Given the description of an element on the screen output the (x, y) to click on. 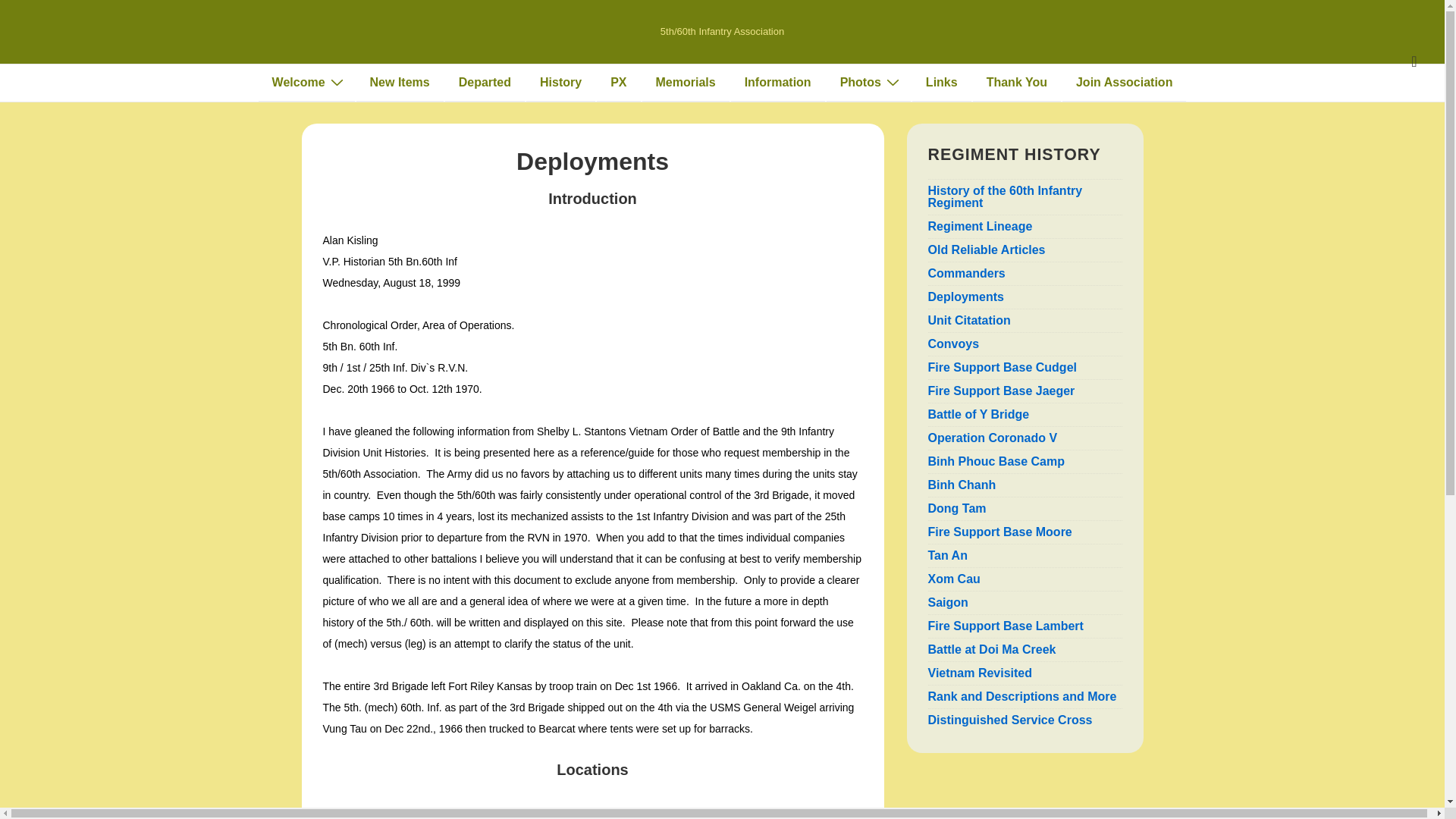
Unit Citatation (969, 319)
Photos (869, 82)
Fire Support Base Moore (999, 531)
Information (777, 82)
Join Association (1124, 82)
MENU (1414, 61)
Dong Tam (957, 508)
Saigon (948, 602)
Links (941, 82)
Old Reliable Articles (986, 249)
Vietnam Revisited (980, 672)
History (560, 82)
Convoys (953, 343)
Deployments (966, 296)
Departed (484, 82)
